Given the description of an element on the screen output the (x, y) to click on. 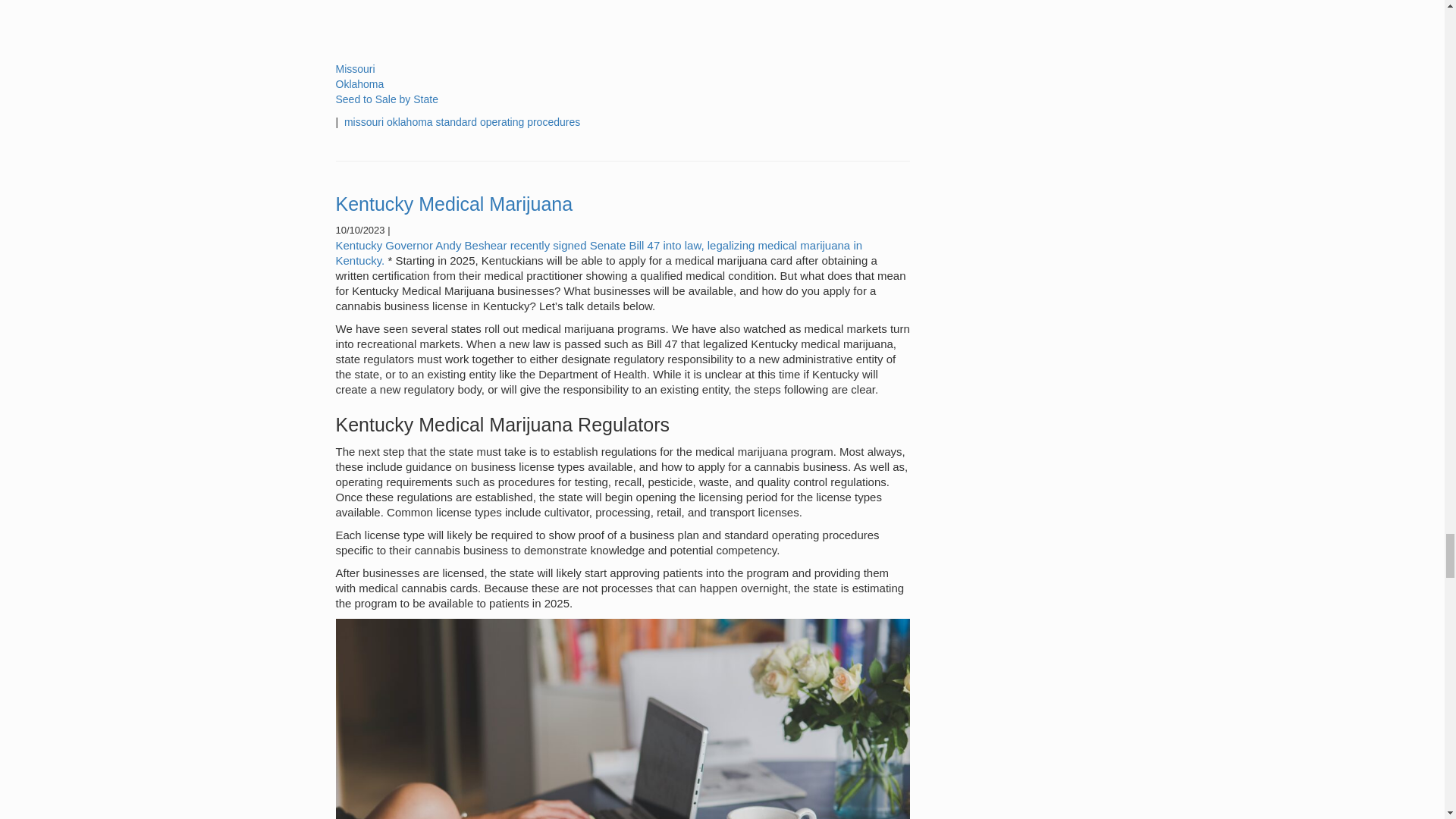
Kentucky Medical Marijuana (453, 203)
